Given the description of an element on the screen output the (x, y) to click on. 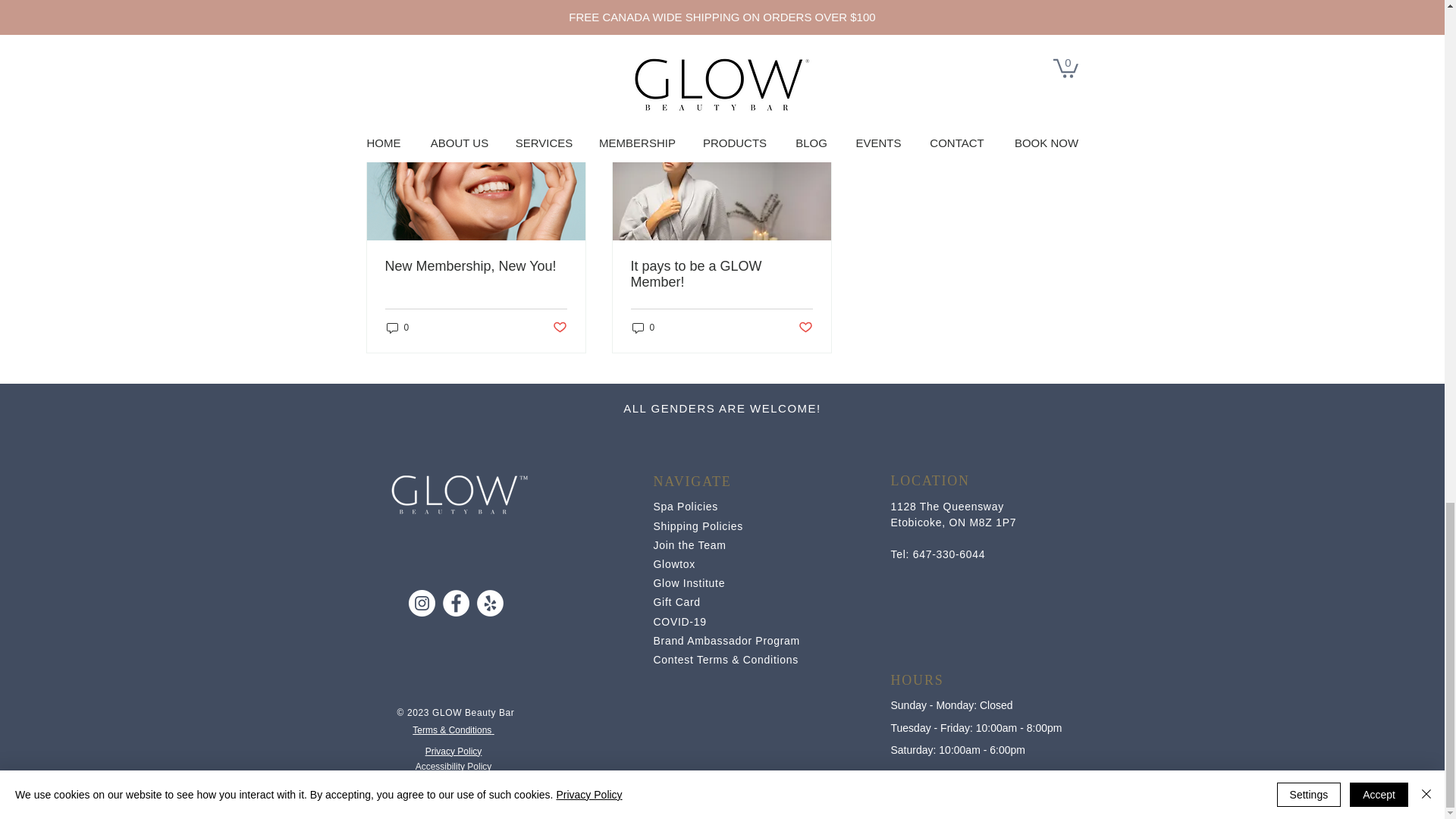
Post not marked as liked (995, 7)
Post not marked as liked (558, 327)
It pays to be a GLOW Member! (721, 274)
New Membership, New You! (476, 266)
0 (397, 327)
See All (1061, 90)
